Given the description of an element on the screen output the (x, y) to click on. 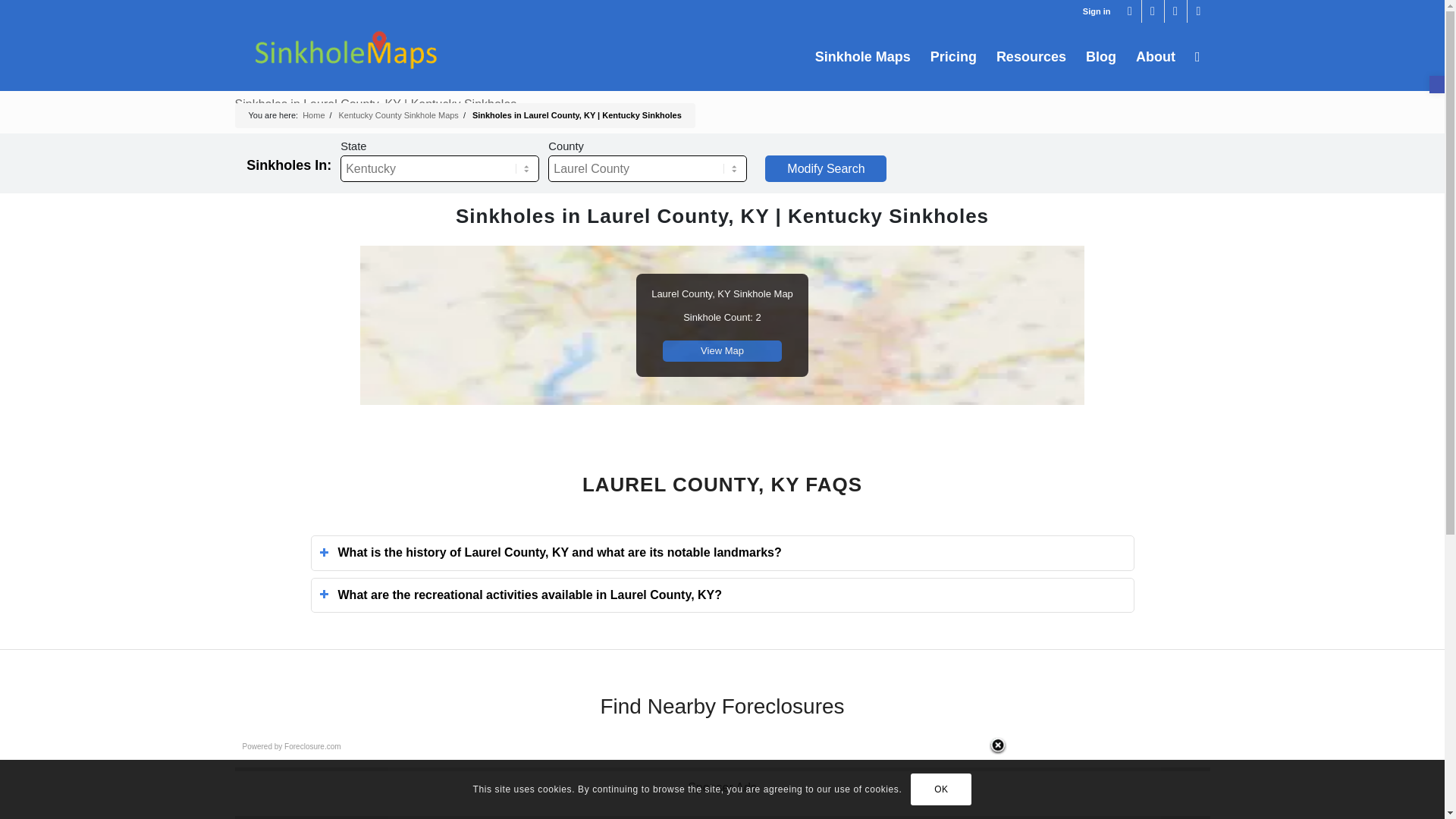
Youtube (1175, 11)
Rss (1198, 11)
Sinkhole Maps (862, 56)
Twitter (1130, 11)
Tony's Sinkhole Maps (312, 115)
Sign in (1096, 11)
Kentucky County Sinkhole Maps (398, 115)
Foreclosure listings (311, 746)
Resources (1031, 56)
Pricing (953, 56)
